Given the description of an element on the screen output the (x, y) to click on. 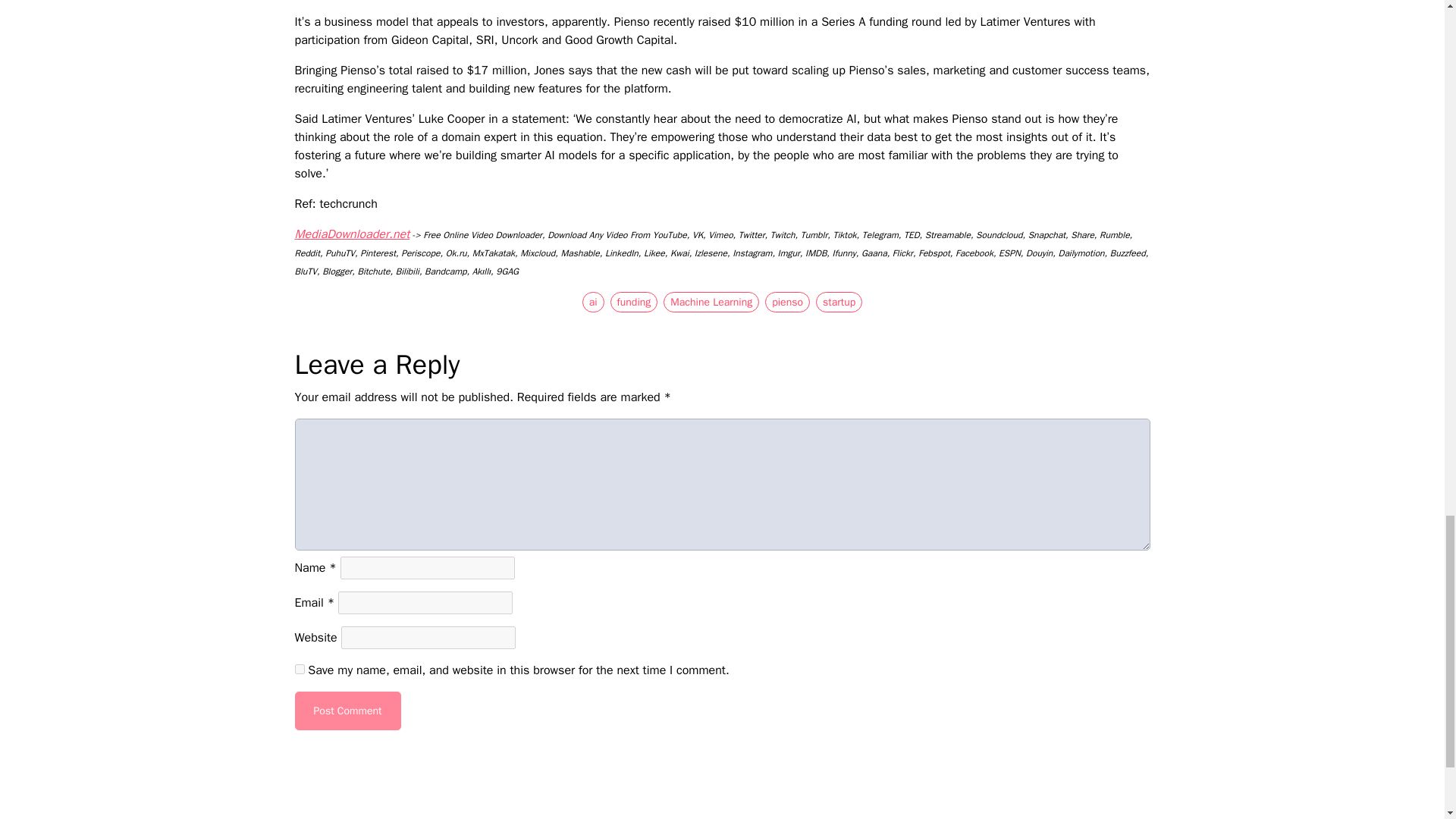
ai (593, 301)
startup (838, 301)
pienso (787, 301)
Machine Learning (710, 301)
Post Comment (347, 711)
MediaDownloader.net (351, 233)
funding (634, 301)
Post Comment (347, 711)
yes (299, 669)
